Given the description of an element on the screen output the (x, y) to click on. 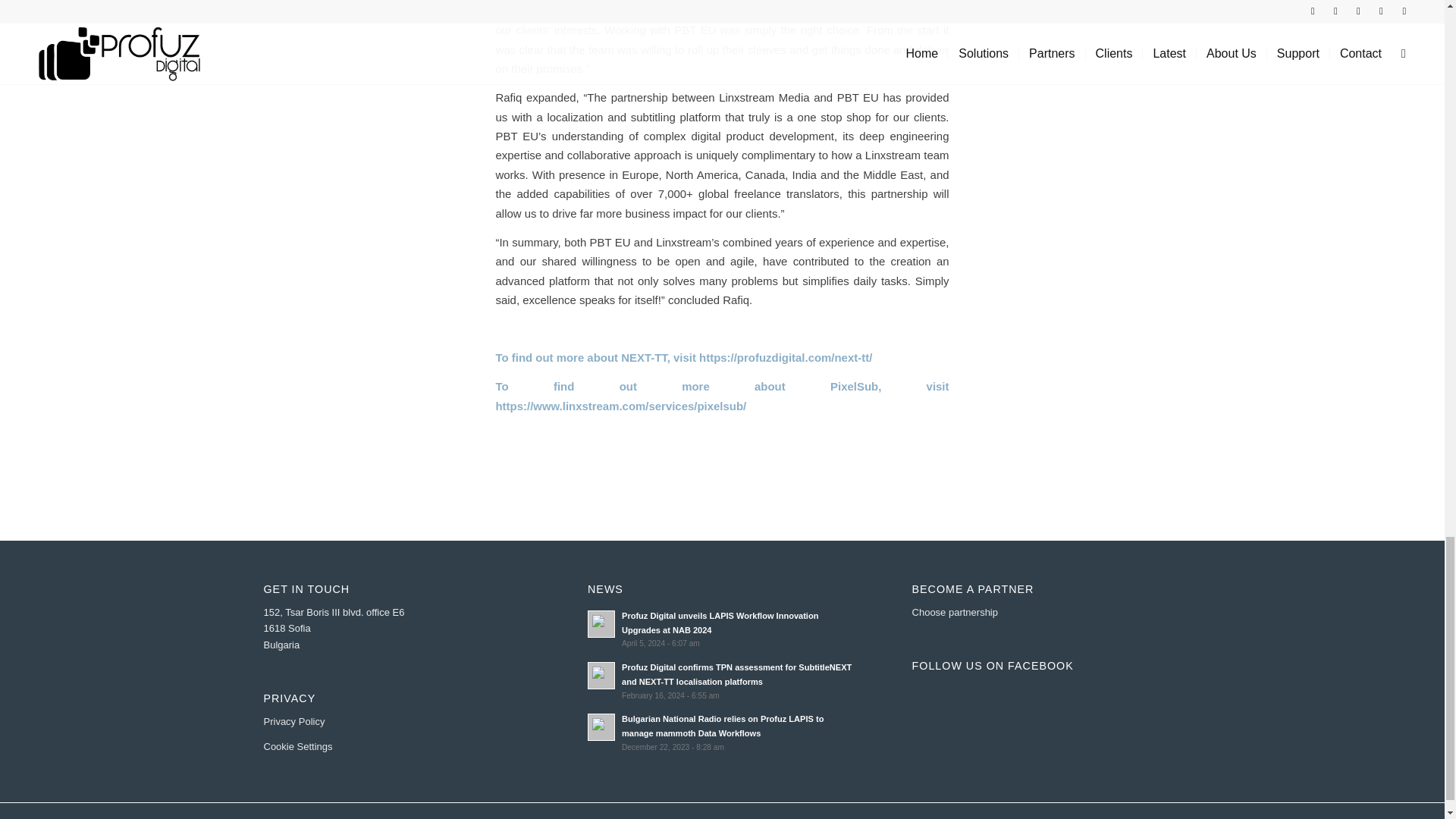
Cookie Settings (298, 746)
Choose partnership (954, 612)
Privacy Policy (293, 721)
